Given the description of an element on the screen output the (x, y) to click on. 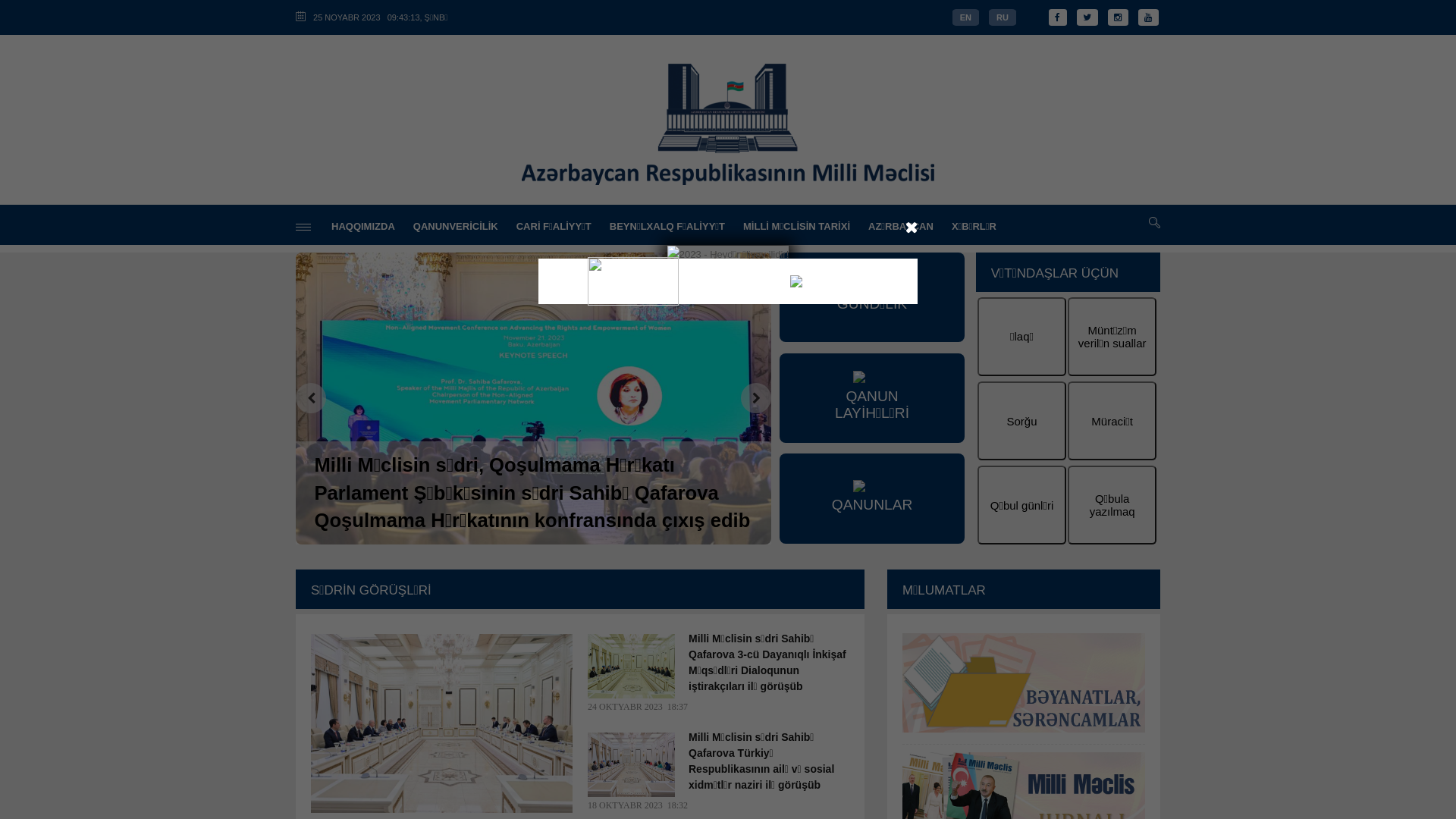
RU Element type: text (1002, 16)
menyu Element type: text (302, 226)
EN Element type: text (965, 16)
HAQQIMIZDA Element type: text (363, 226)
Previous Element type: text (310, 397)
Next Element type: text (755, 397)
QANUNLAR Element type: text (871, 497)
